Given the description of an element on the screen output the (x, y) to click on. 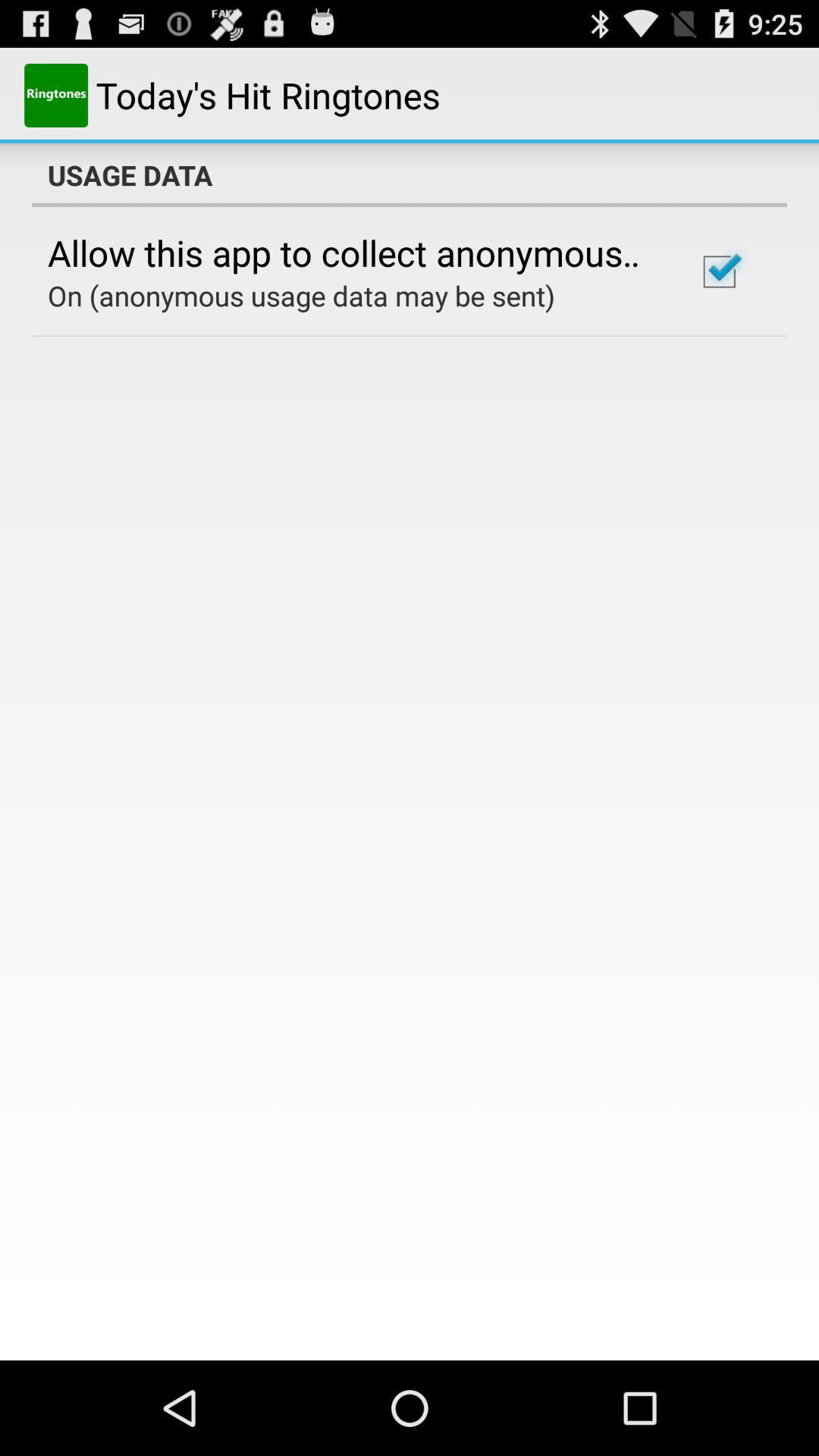
scroll to allow this app item (351, 252)
